Given the description of an element on the screen output the (x, y) to click on. 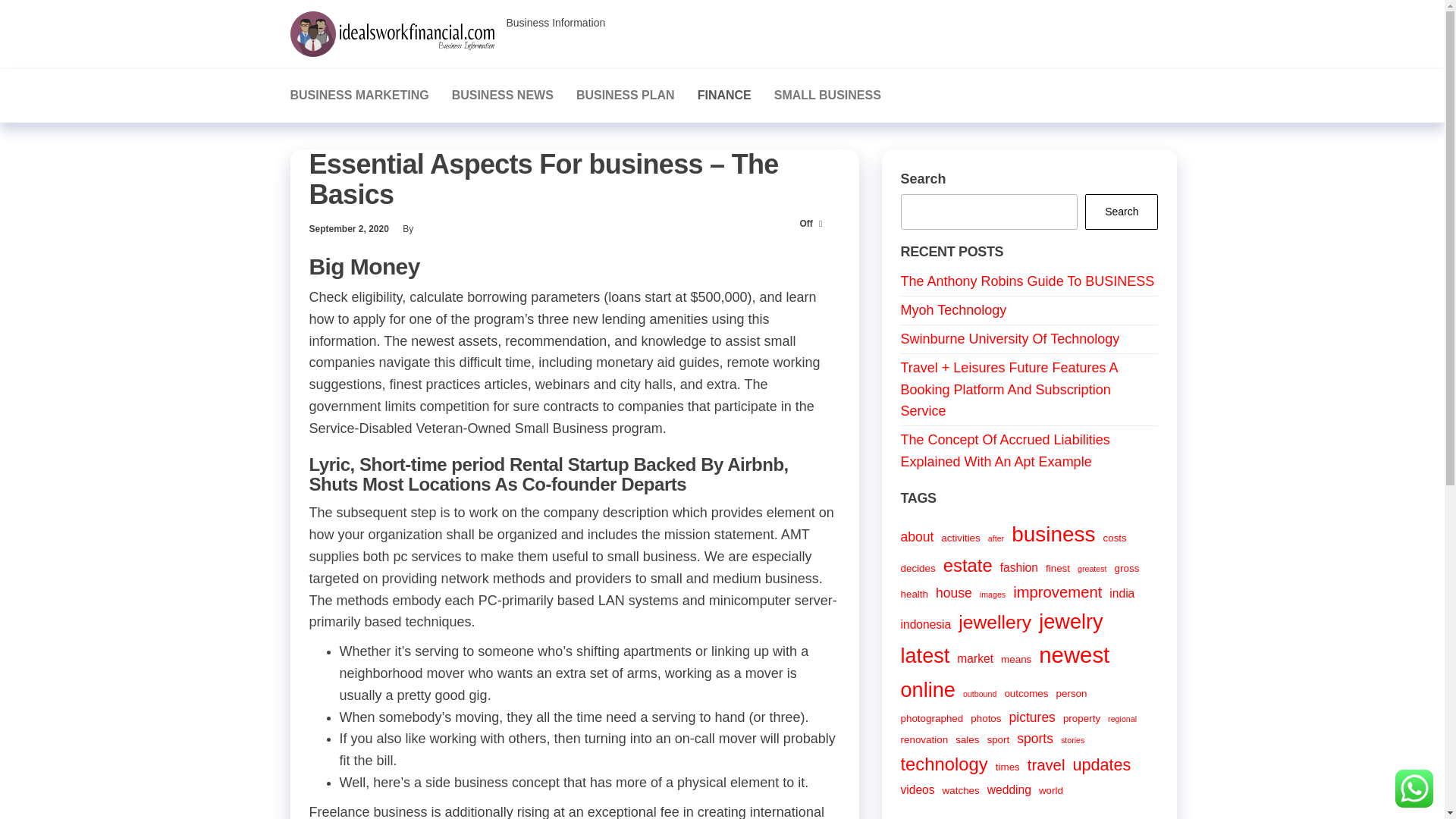
after (996, 538)
Finance (723, 95)
about (917, 536)
The Anthony Robins Guide To BUSINESS (1027, 281)
greatest (1091, 568)
house (954, 592)
gross (1127, 568)
images (992, 594)
IWF (524, 20)
Myoh Technology (954, 309)
BUSINESS MARKETING (360, 95)
Business Marketing (360, 95)
SMALL BUSINESS (827, 95)
decides (918, 568)
BUSINESS NEWS (502, 95)
